Given the description of an element on the screen output the (x, y) to click on. 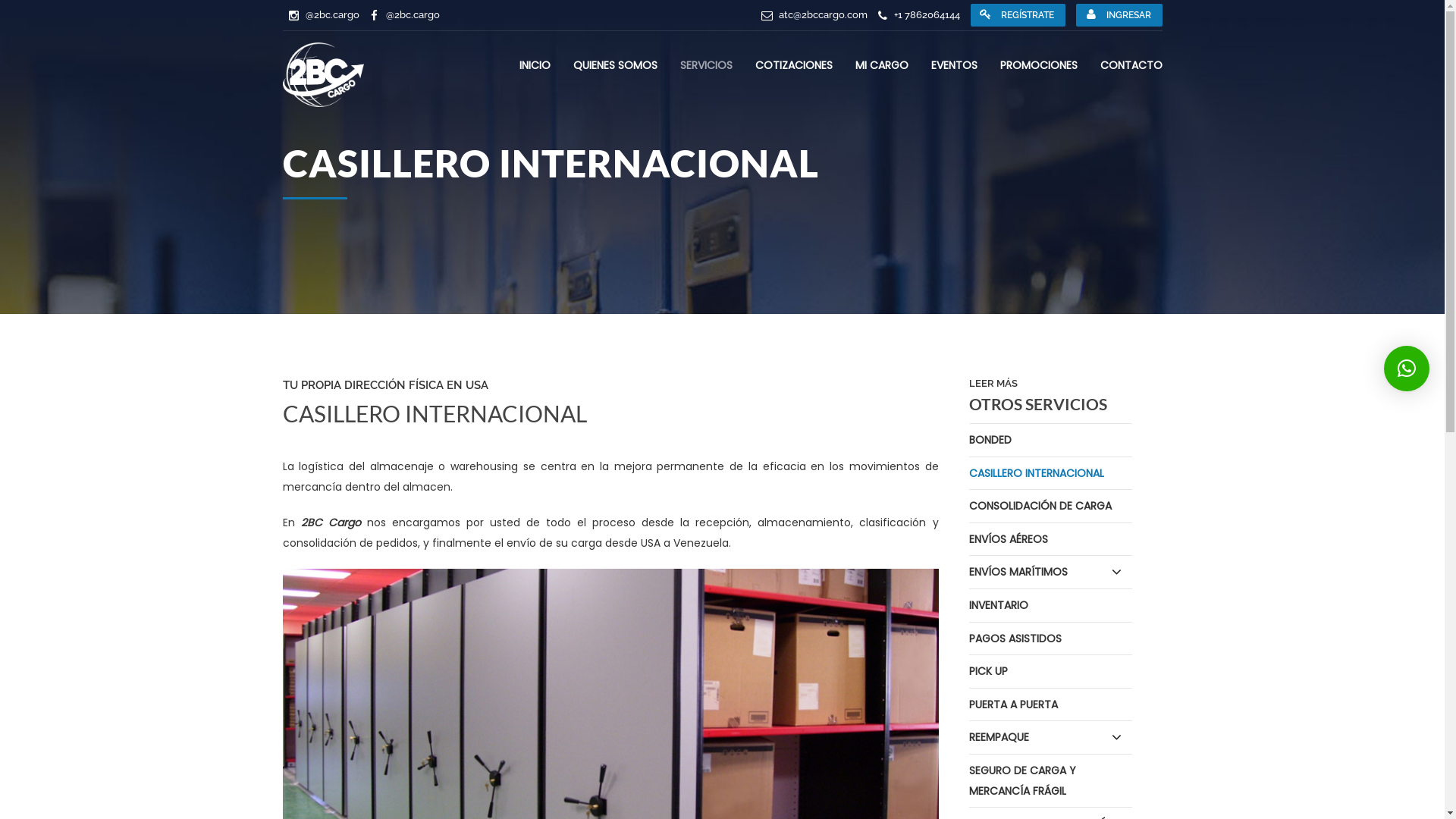
@2bc.cargo Element type: text (331, 14)
PAGOS ASISTIDOS Element type: text (1050, 638)
PUERTA A PUERTA Element type: text (1050, 704)
COTIZACIONES Element type: text (793, 64)
@2bc.cargo Element type: text (412, 14)
CASILLERO INTERNACIONAL Element type: text (1050, 473)
SERVICIOS Element type: text (705, 64)
PICK UP Element type: text (1050, 671)
INICIO Element type: text (533, 64)
MI CARGO Element type: text (881, 64)
PROMOCIONES Element type: text (1037, 64)
QUIENES SOMOS Element type: text (615, 64)
EVENTOS Element type: text (954, 64)
INGRESAR Element type: text (1118, 14)
INVENTARIO Element type: text (1050, 605)
atc@2bccargo.com Element type: text (822, 14)
BONDED Element type: text (1050, 440)
REEMPAQUE Element type: text (1050, 737)
CONTACTO Element type: text (1130, 64)
+1 7862064144 Element type: text (926, 14)
